Given the description of an element on the screen output the (x, y) to click on. 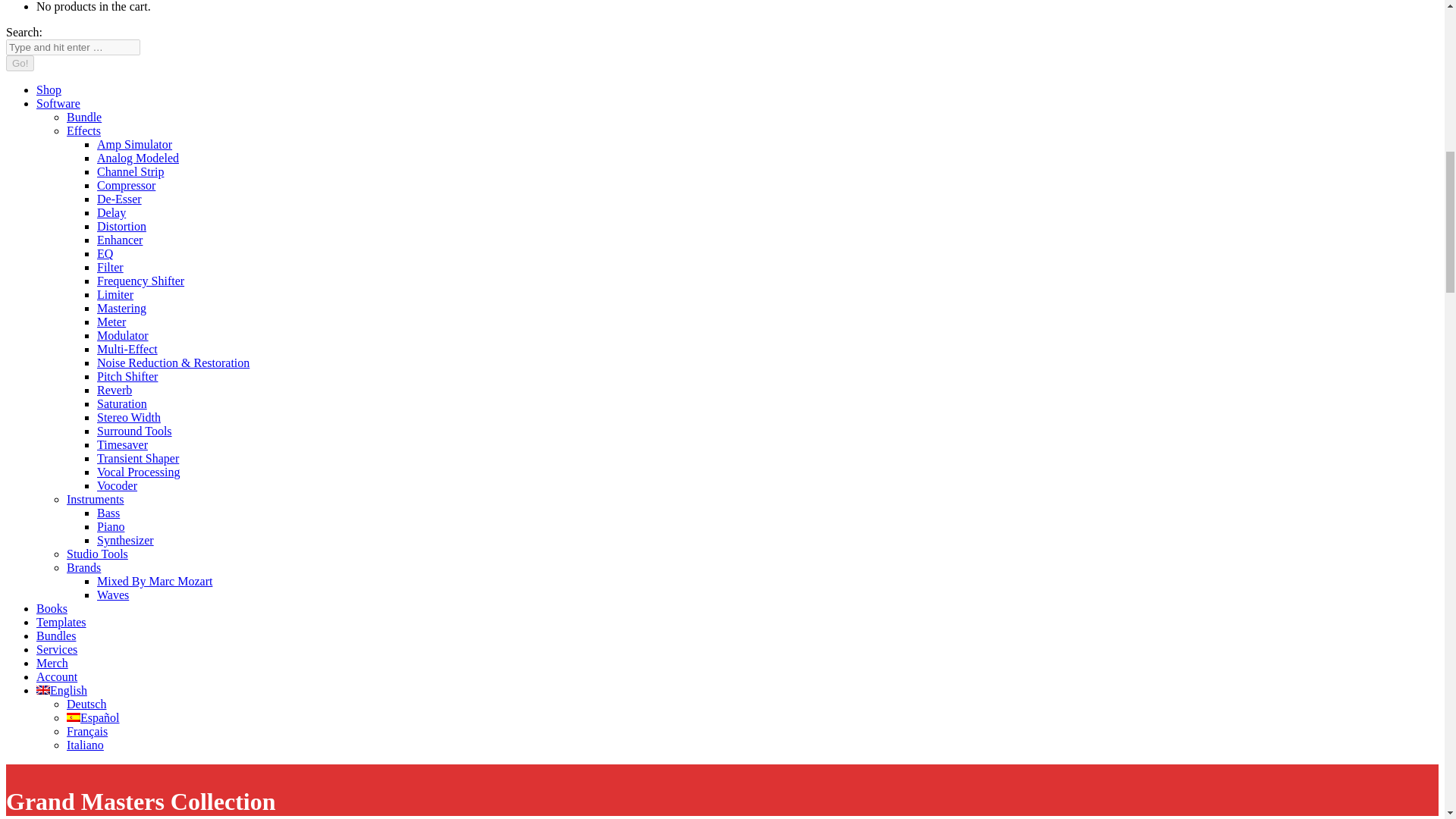
Italiano (84, 744)
Deutsch (86, 703)
Go! (19, 63)
Go! (19, 63)
Search form (72, 47)
English (61, 689)
